Given the description of an element on the screen output the (x, y) to click on. 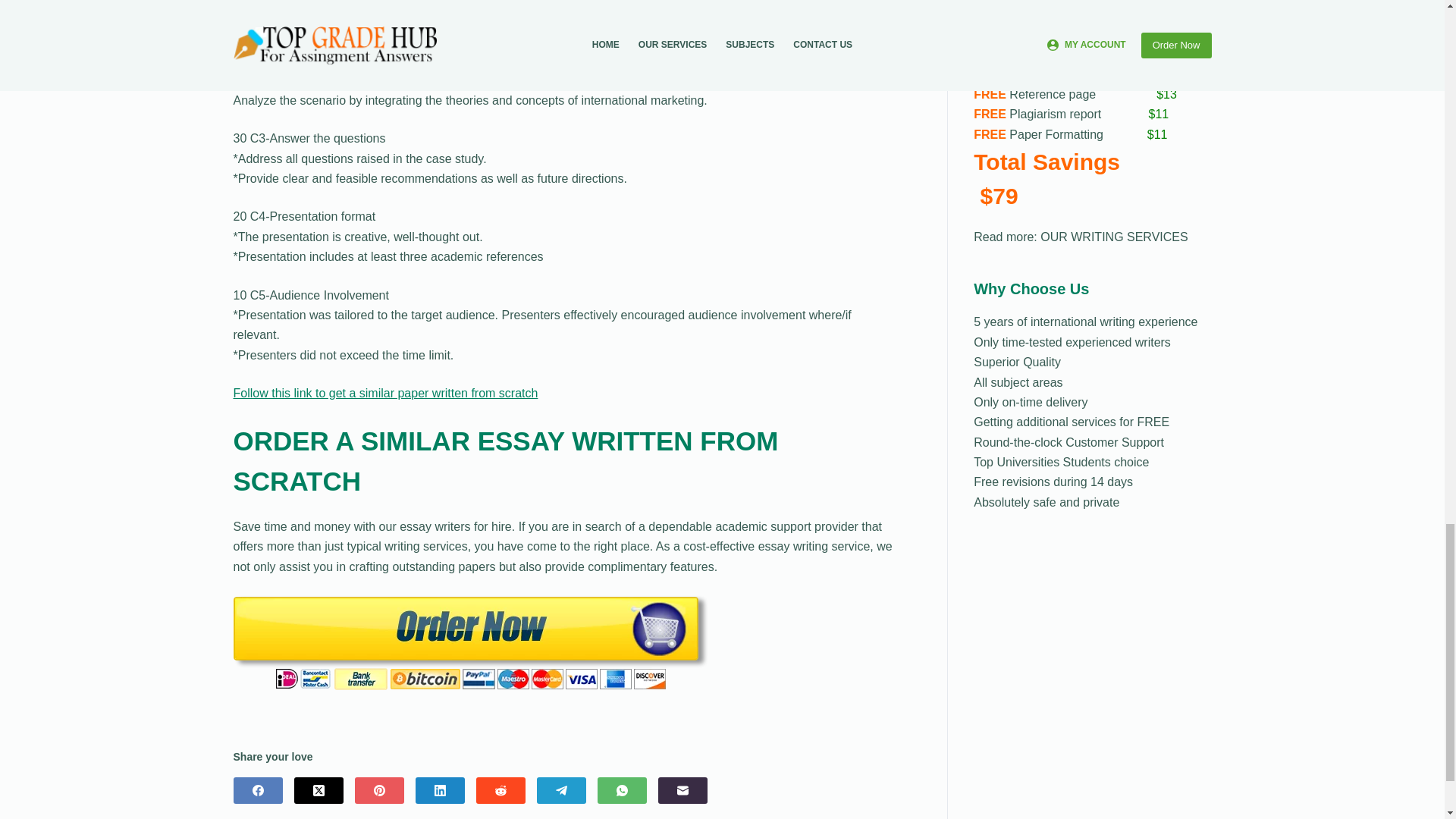
Follow this link to get a similar paper written from scratch (385, 392)
OUR WRITING SERVICES (1114, 236)
